Given the description of an element on the screen output the (x, y) to click on. 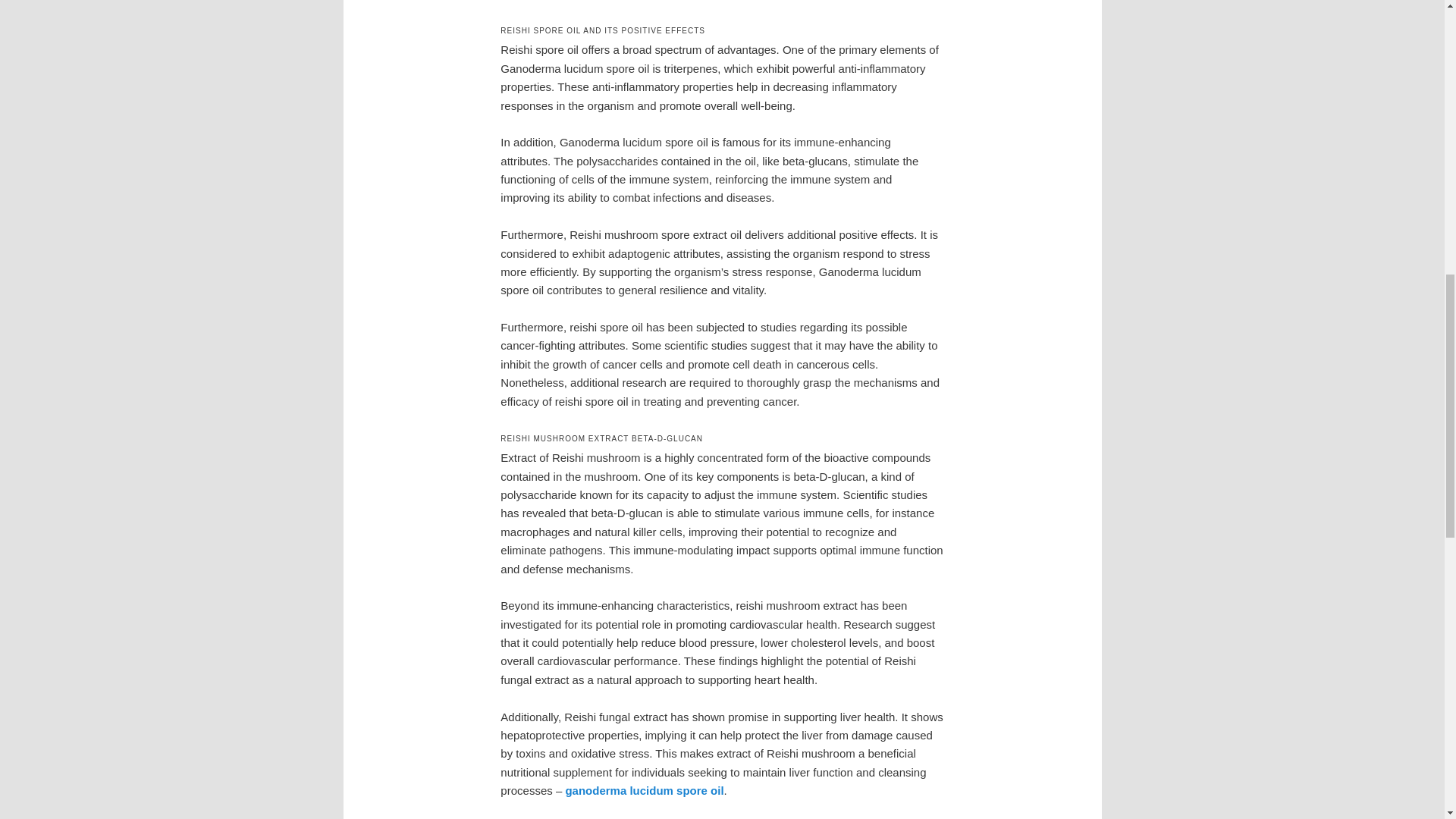
ganoderma lucidum spore oil (643, 789)
